Given the description of an element on the screen output the (x, y) to click on. 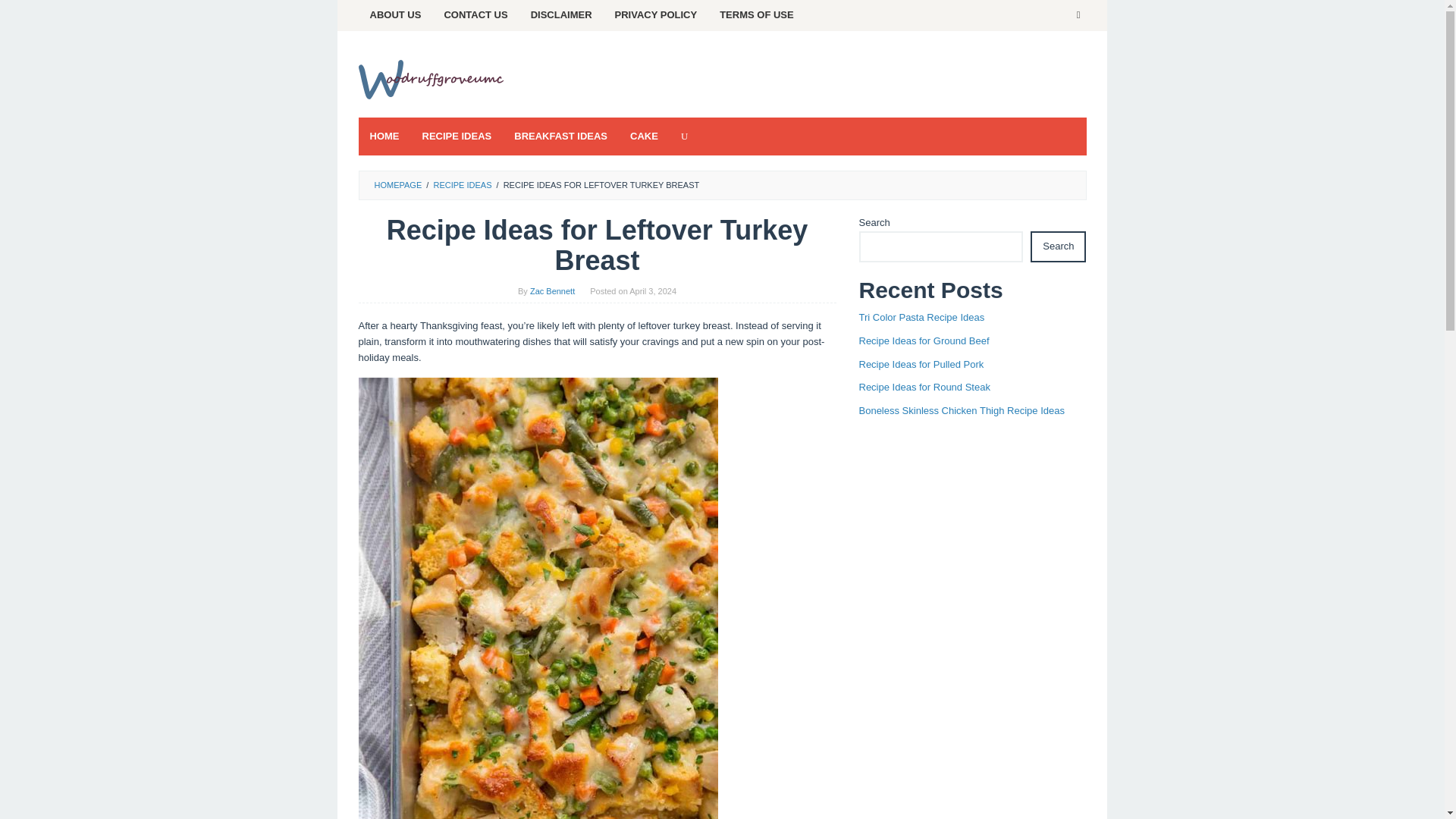
ABOUT US (395, 15)
HOME (384, 136)
RECIPE IDEAS (462, 184)
Woodruffgroveumc (433, 79)
RECIPE IDEAS (456, 136)
Zac Bennett (552, 290)
BREAKFAST IDEAS (560, 136)
Recipe Ideas for Ground Beef (923, 340)
Recipe Ideas for Round Steak (924, 387)
TERMS OF USE (756, 15)
CONTACT US (475, 15)
Recipe Ideas for Pulled Pork (921, 364)
DISCLAIMER (561, 15)
Woodruffgroveumc (433, 79)
CAKE (643, 136)
